Given the description of an element on the screen output the (x, y) to click on. 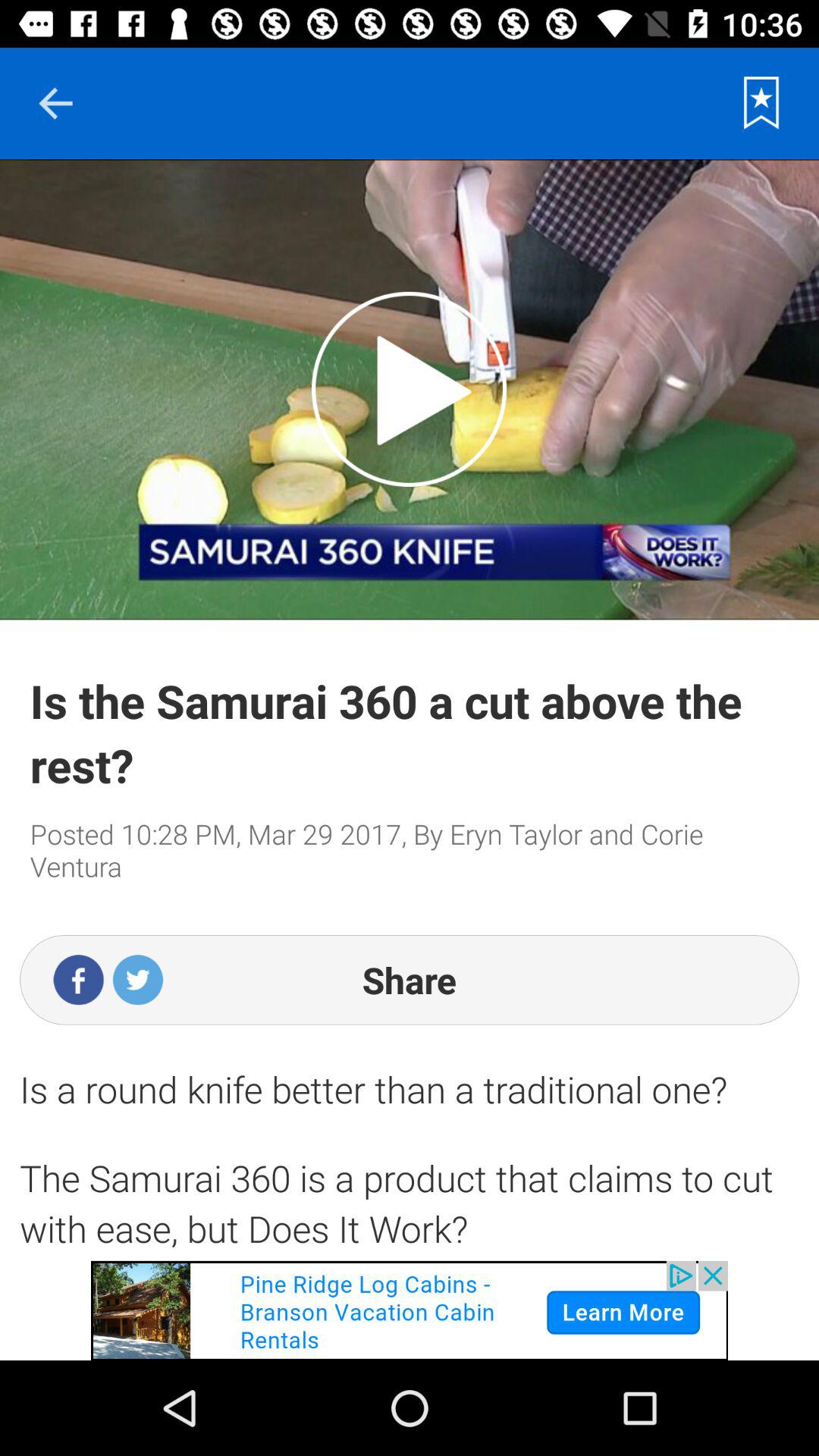
goes back (55, 103)
